Given the description of an element on the screen output the (x, y) to click on. 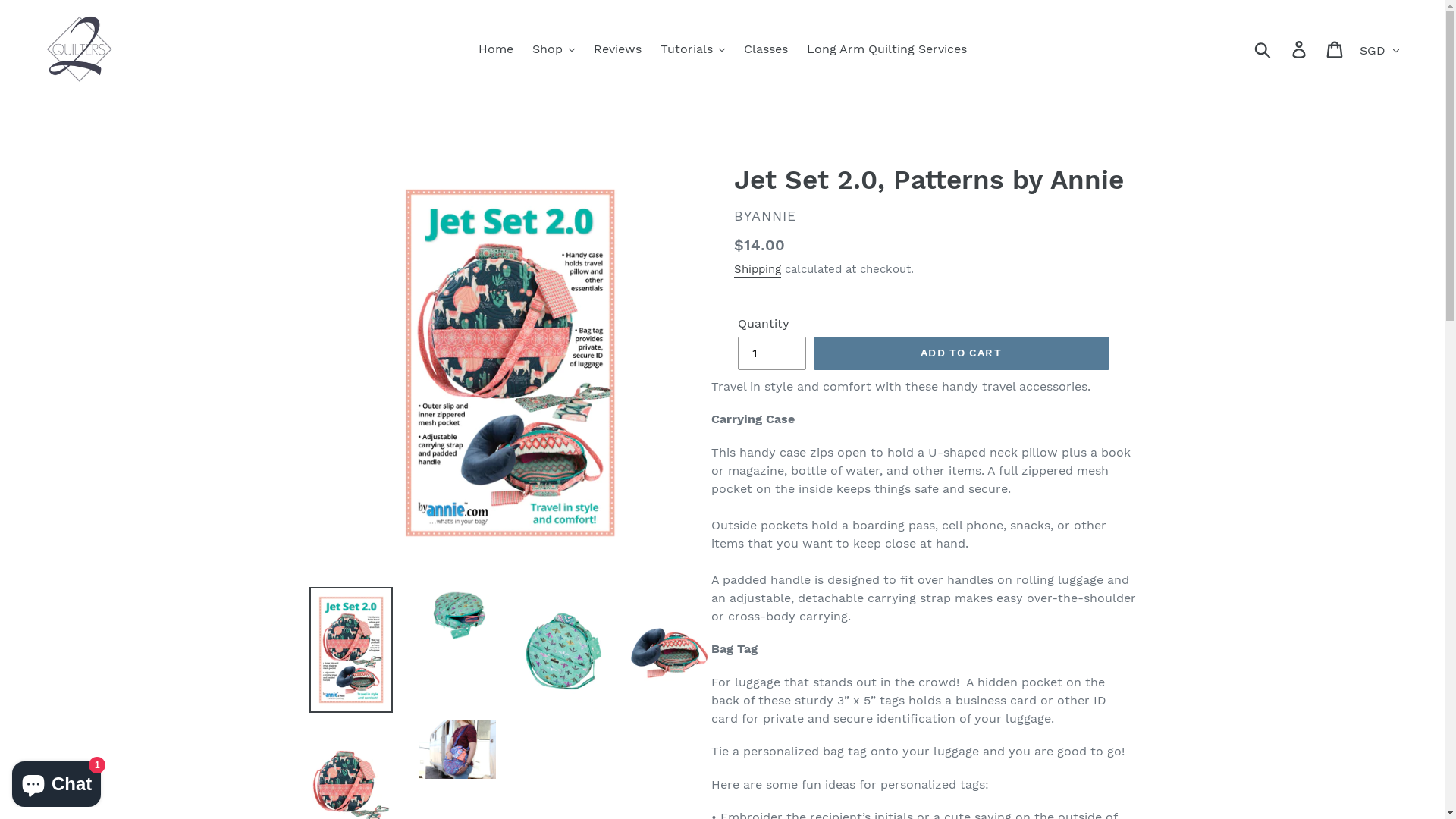
Long Arm Quilting Services Element type: text (886, 48)
Log in Element type: text (1299, 49)
Home Element type: text (495, 48)
Submit Element type: text (1263, 48)
Classes Element type: text (764, 48)
Shipping Element type: text (757, 269)
ADD TO CART Element type: text (960, 353)
Cart Element type: text (1335, 49)
Reviews Element type: text (616, 48)
Shopify online store chat Element type: hover (56, 780)
